Given the description of an element on the screen output the (x, y) to click on. 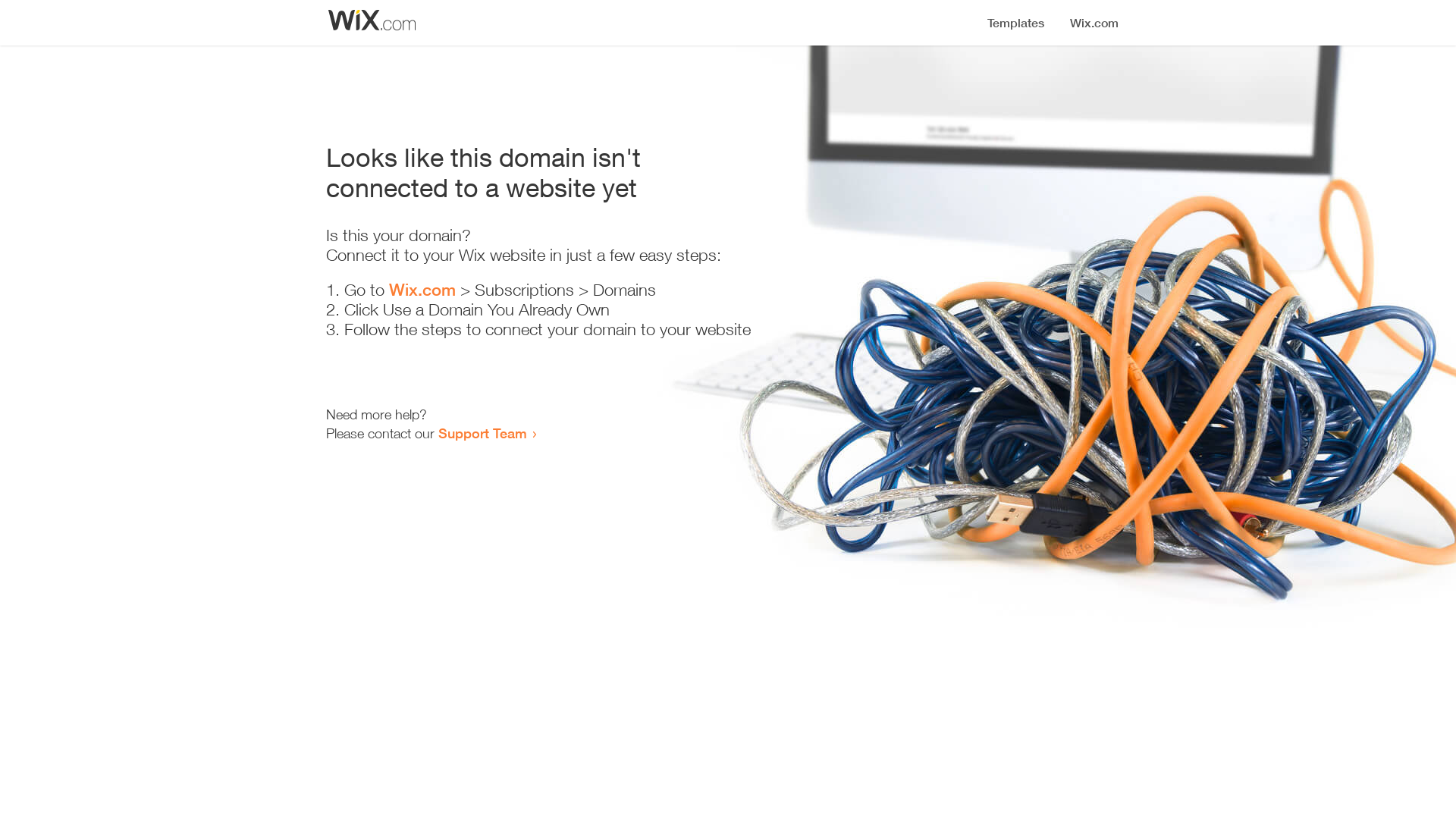
Support Team Element type: text (482, 432)
Wix.com Element type: text (422, 289)
